Given the description of an element on the screen output the (x, y) to click on. 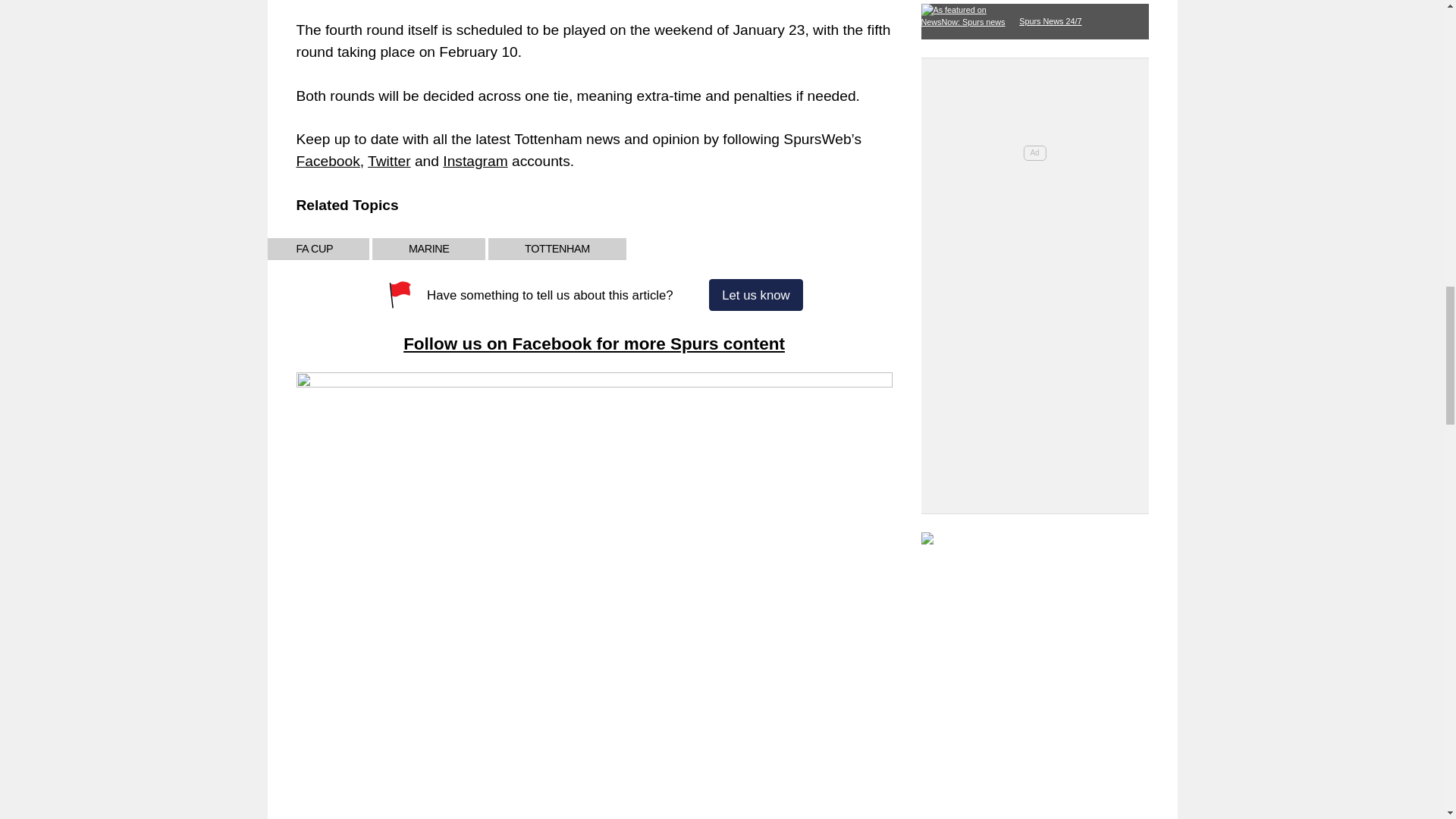
Follow us on Facebook for more Spurs content (593, 343)
Twitter (389, 160)
TOTTENHAM (556, 249)
FA CUP (314, 249)
Let us know (755, 295)
MARINE (429, 249)
Facebook (327, 160)
Instagram (474, 160)
